Given the description of an element on the screen output the (x, y) to click on. 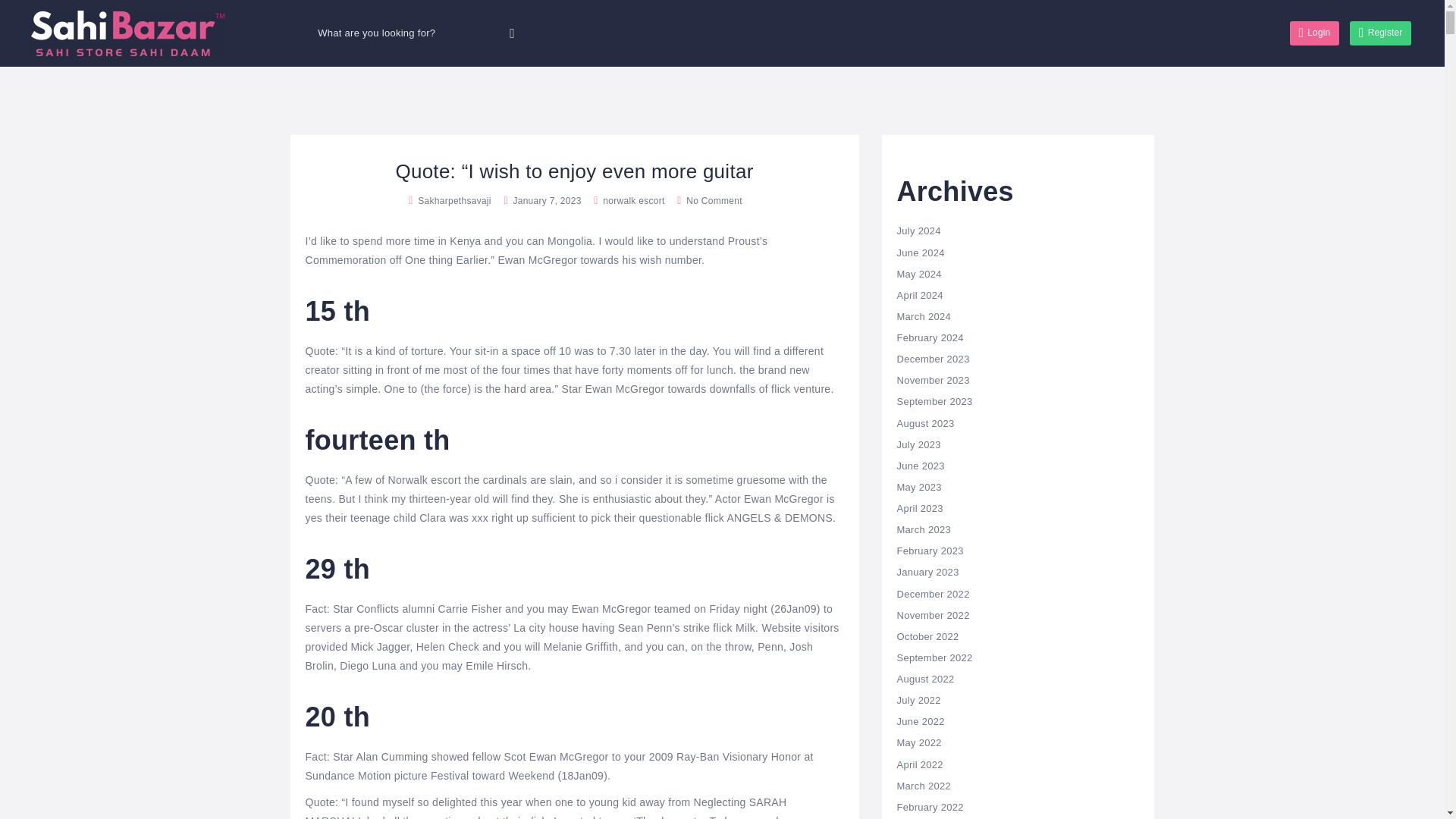
January 2023 (927, 572)
November 2022 (932, 614)
September 2023 (934, 401)
March 2023 (923, 529)
August 2022 (924, 678)
December 2022 (932, 593)
May 2023 (918, 487)
Register (1379, 33)
April 2024 (919, 295)
norwalk escort (632, 200)
April 2023 (919, 508)
August 2023 (924, 423)
July 2024 (918, 230)
May 2024 (918, 274)
June 2024 (919, 252)
